Given the description of an element on the screen output the (x, y) to click on. 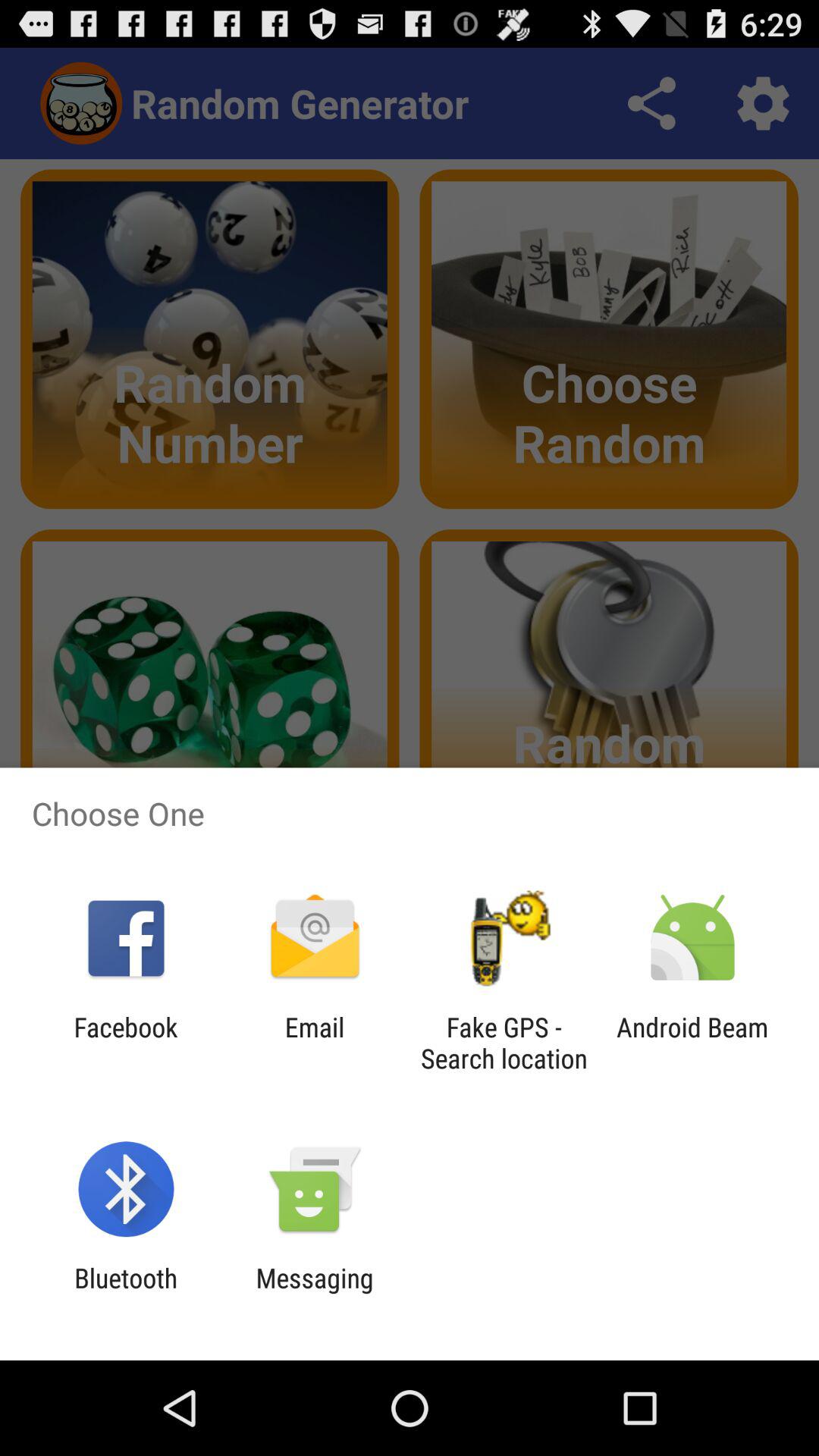
open the icon next to fake gps search icon (692, 1042)
